Given the description of an element on the screen output the (x, y) to click on. 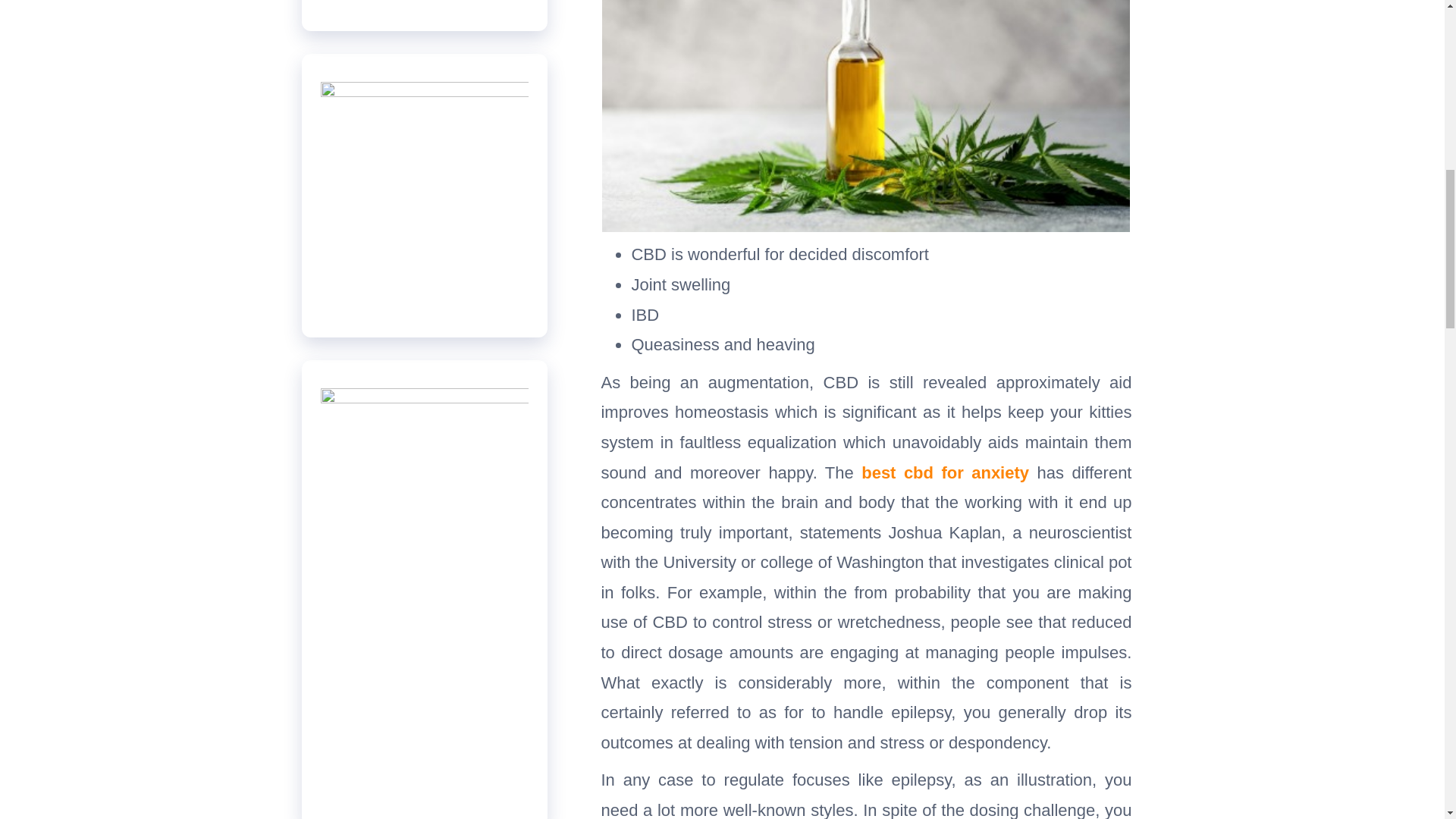
best cbd for anxiety (945, 471)
